Given the description of an element on the screen output the (x, y) to click on. 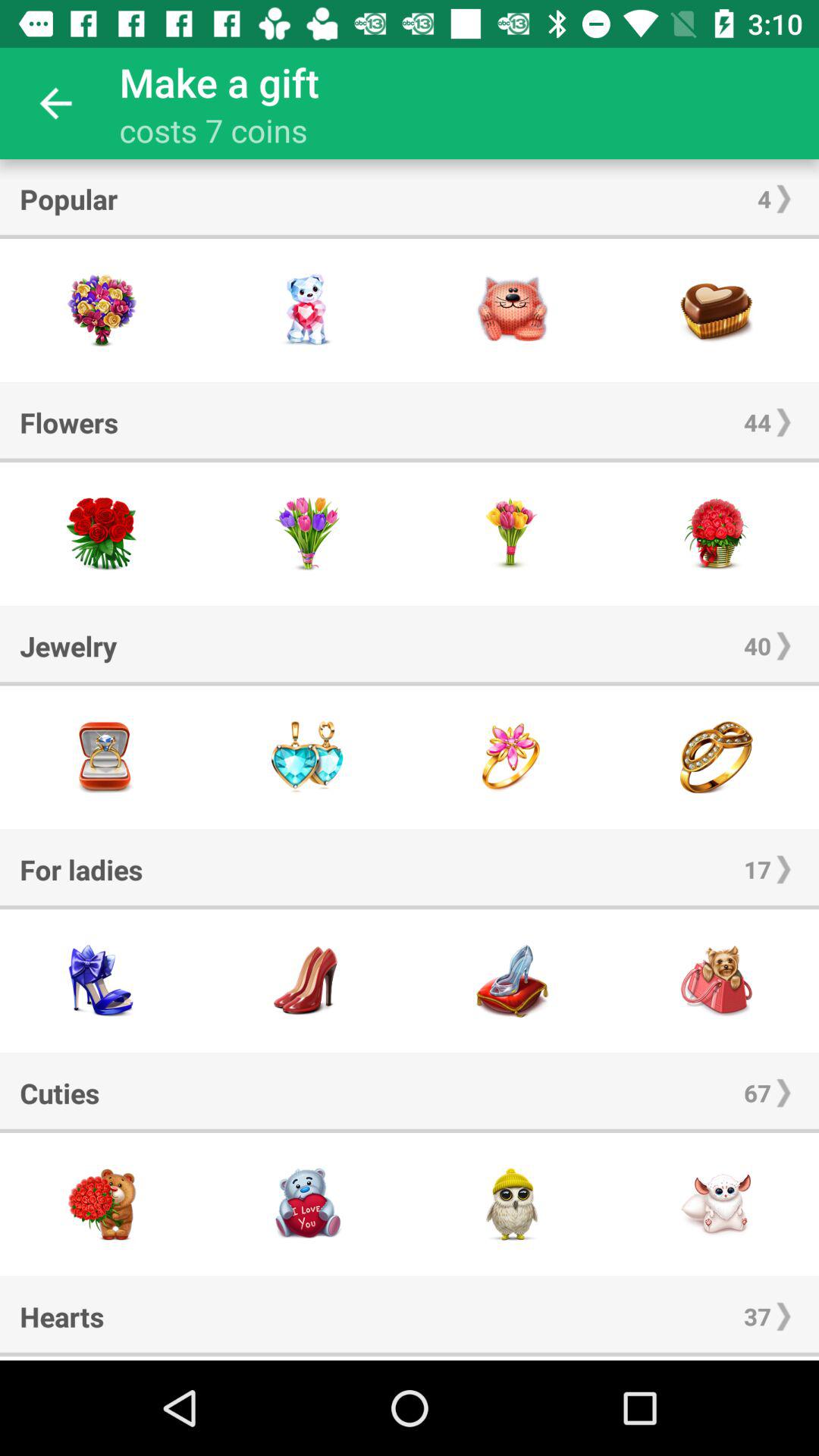
select this gift button (306, 533)
